Given the description of an element on the screen output the (x, y) to click on. 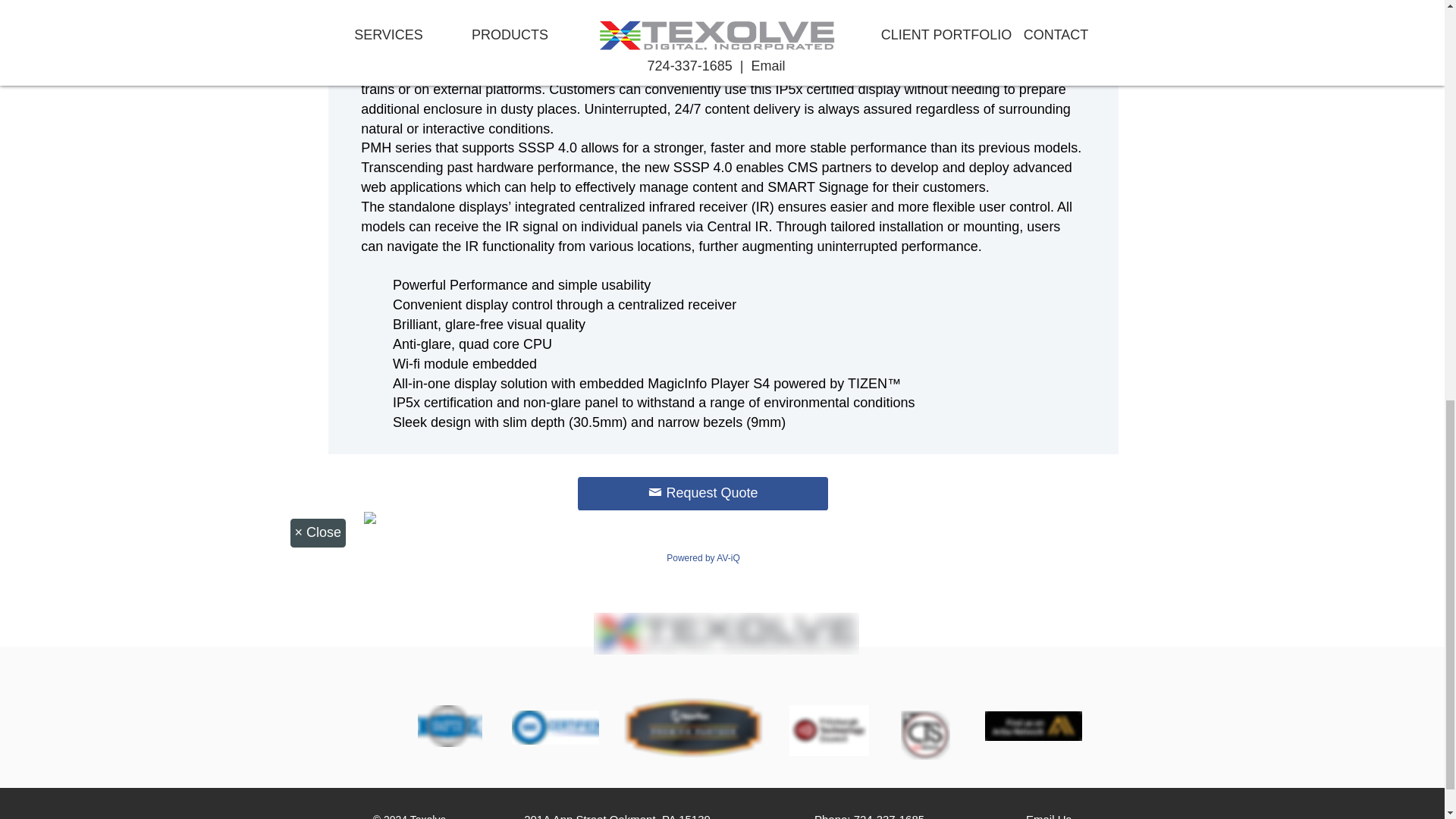
Email Us (1048, 816)
Powered by AV-iQ (702, 557)
201A Ann Street Oakmont, PA 15139 (617, 816)
